Given the description of an element on the screen output the (x, y) to click on. 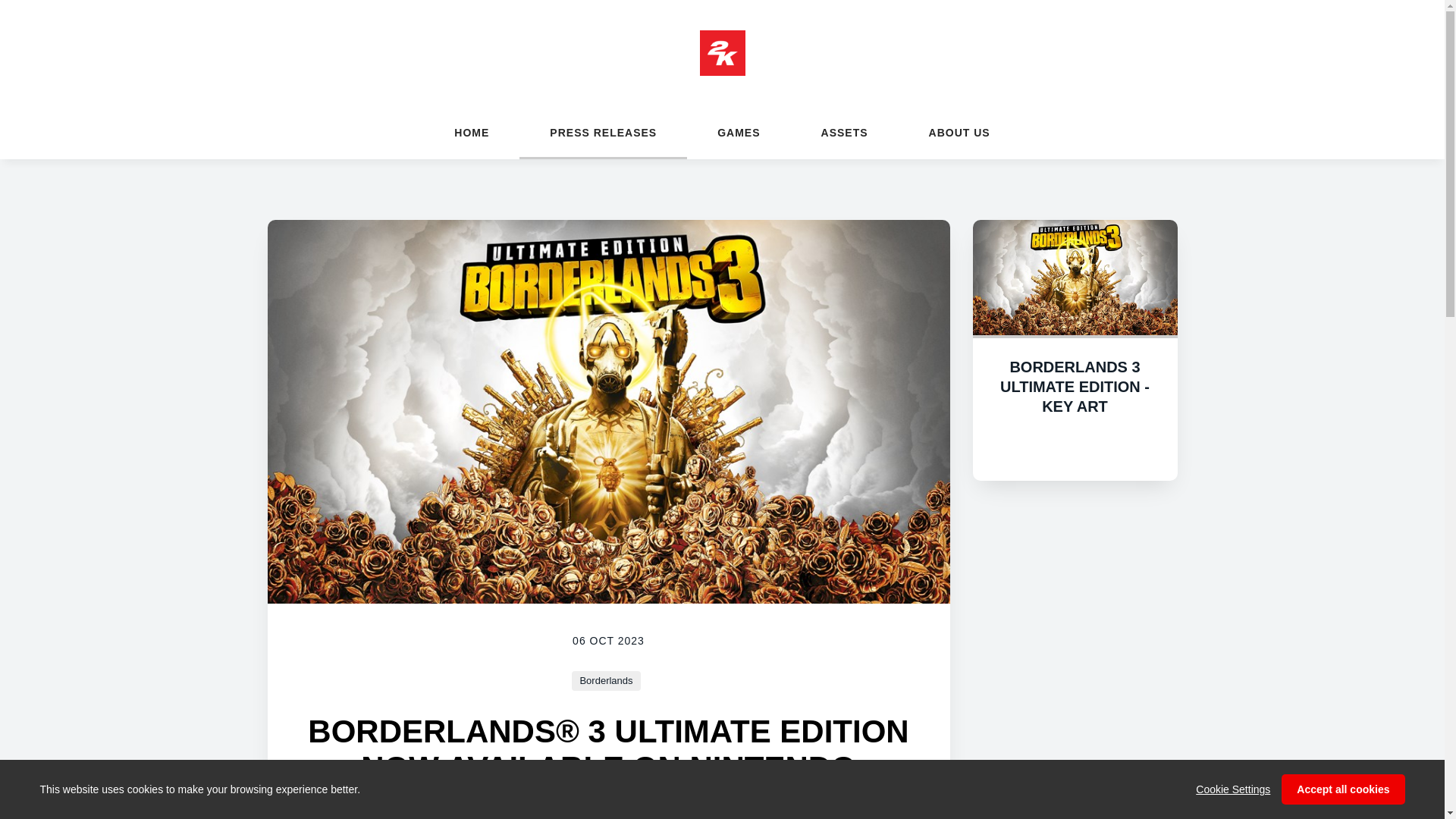
PRESS RELEASES (603, 132)
BORDERLANDS 3 ULTIMATE EDITION - KEY ART (1075, 386)
Borderlands (606, 680)
ABOUT US (959, 132)
Cookie Settings (1232, 788)
HOME (471, 132)
Accept all cookies (1343, 788)
GAMES (738, 132)
ASSETS (844, 132)
DOWNLOAD (1074, 446)
